Given the description of an element on the screen output the (x, y) to click on. 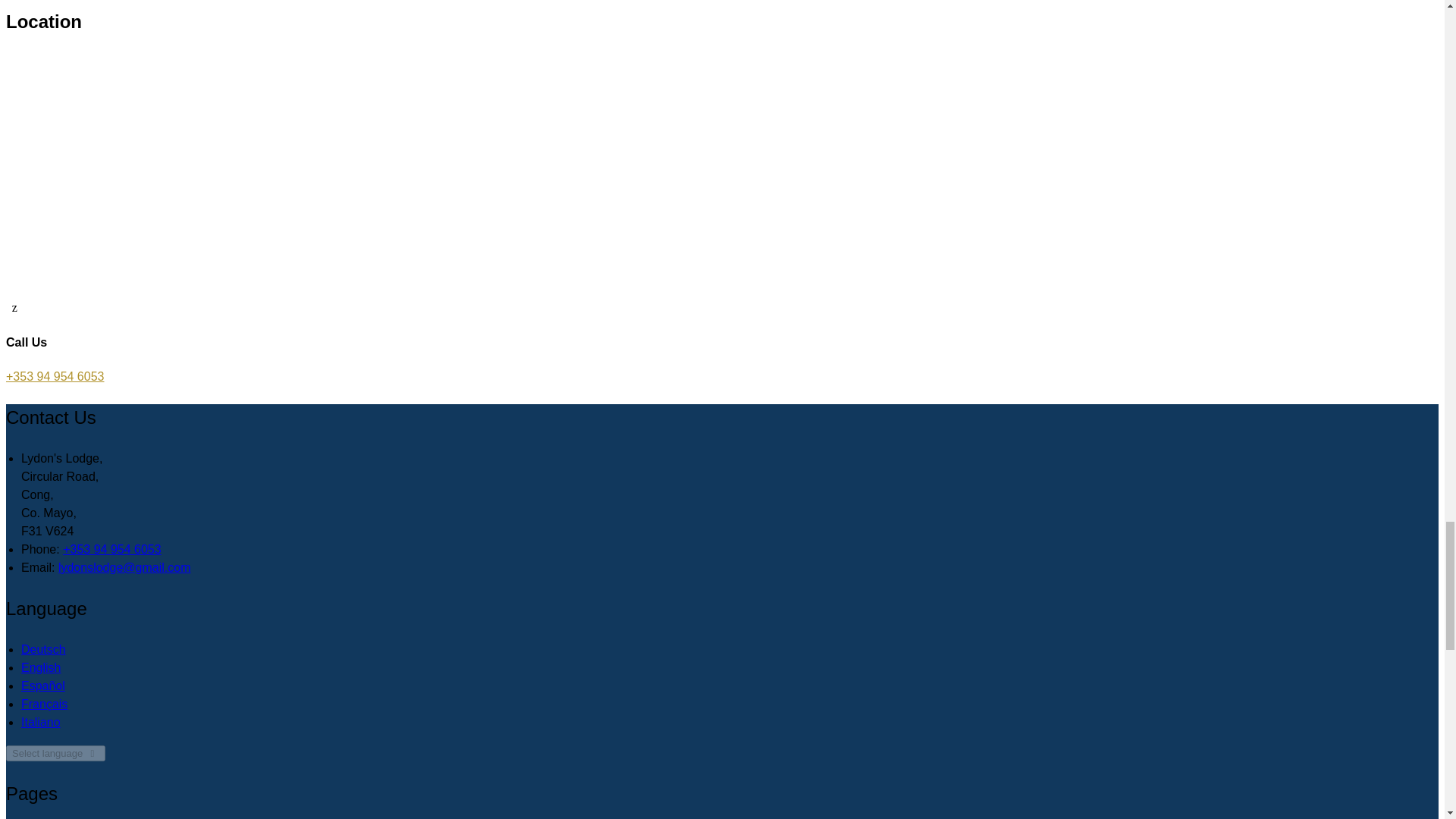
Deutsch (43, 649)
English (41, 667)
Italiano (41, 721)
